Given the description of an element on the screen output the (x, y) to click on. 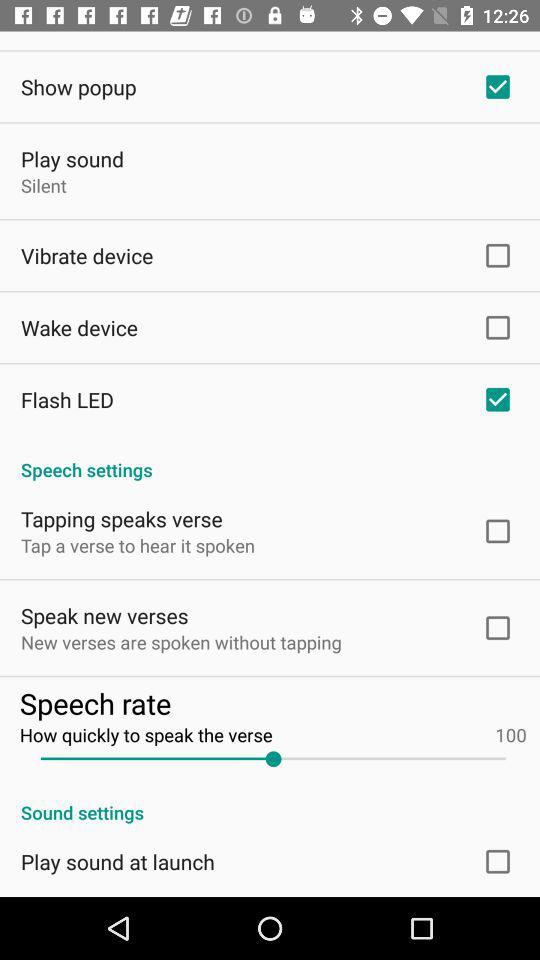
launch the item above the speak new verses (137, 545)
